Given the description of an element on the screen output the (x, y) to click on. 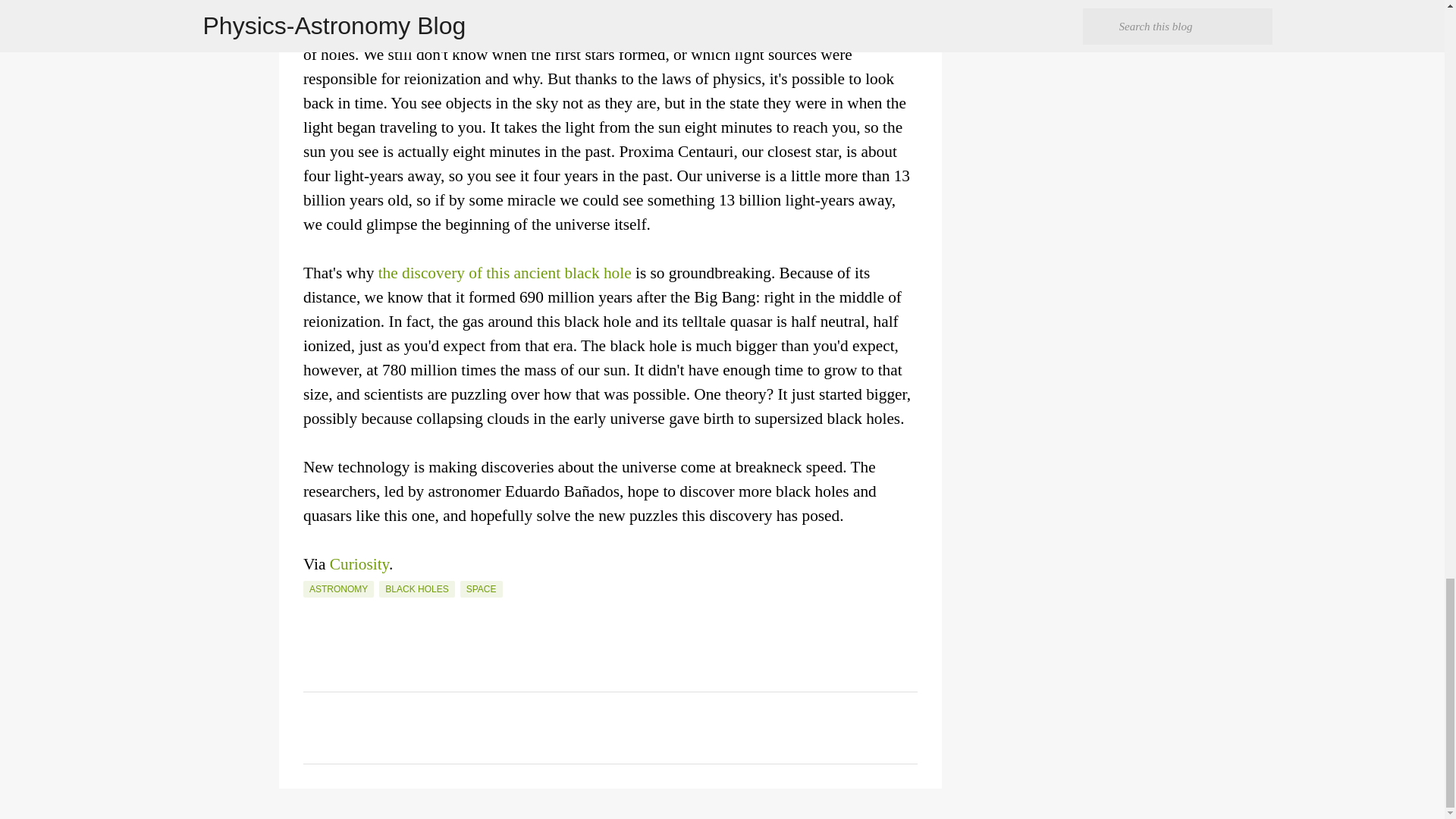
ASTRONOMY (338, 588)
BLACK HOLES (416, 588)
Curiosity (359, 564)
the discovery of this ancient black hole (504, 272)
SPACE (481, 588)
